Given the description of an element on the screen output the (x, y) to click on. 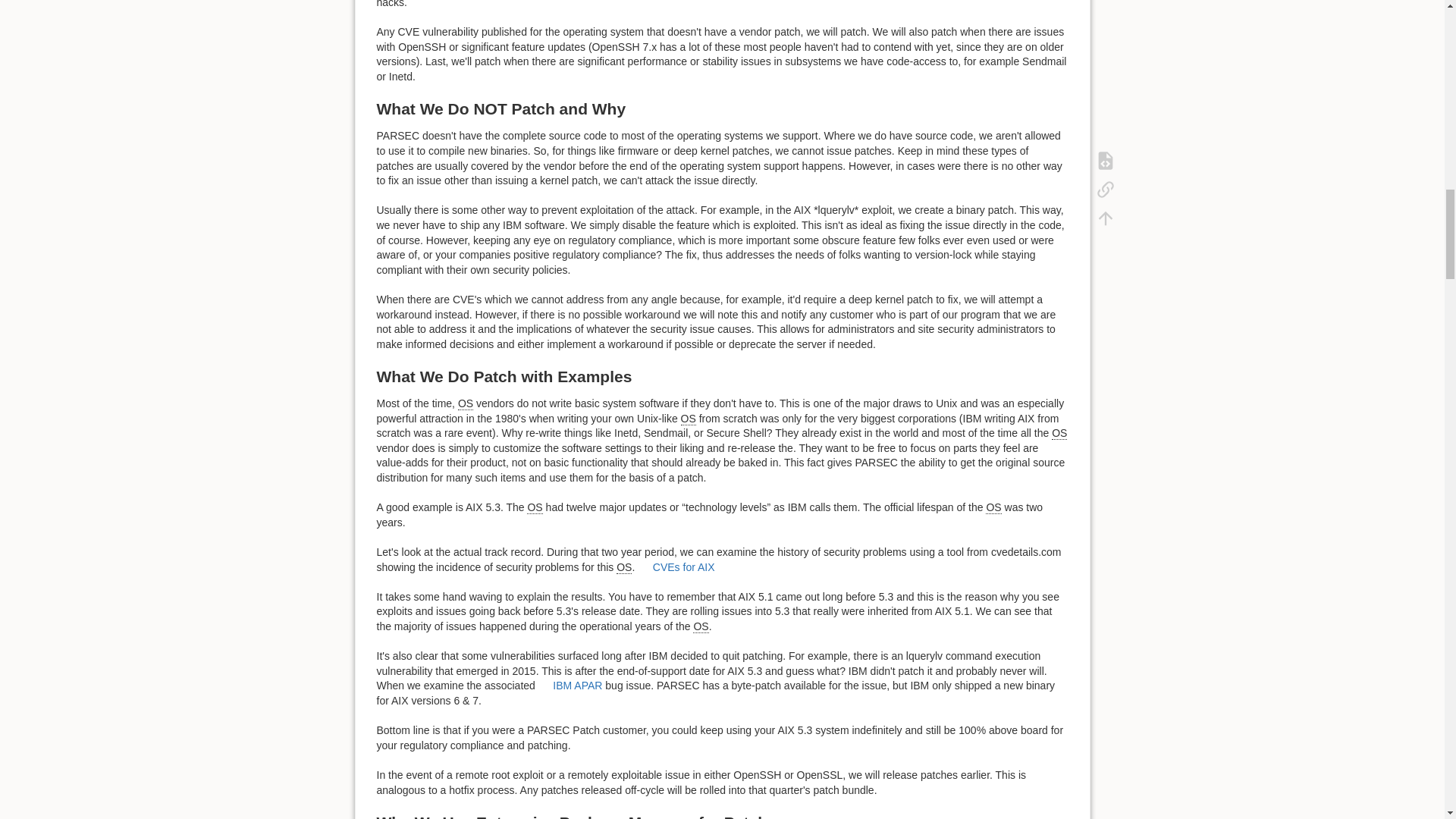
CVEs for AIX (675, 567)
IBM APAR (570, 685)
